Given the description of an element on the screen output the (x, y) to click on. 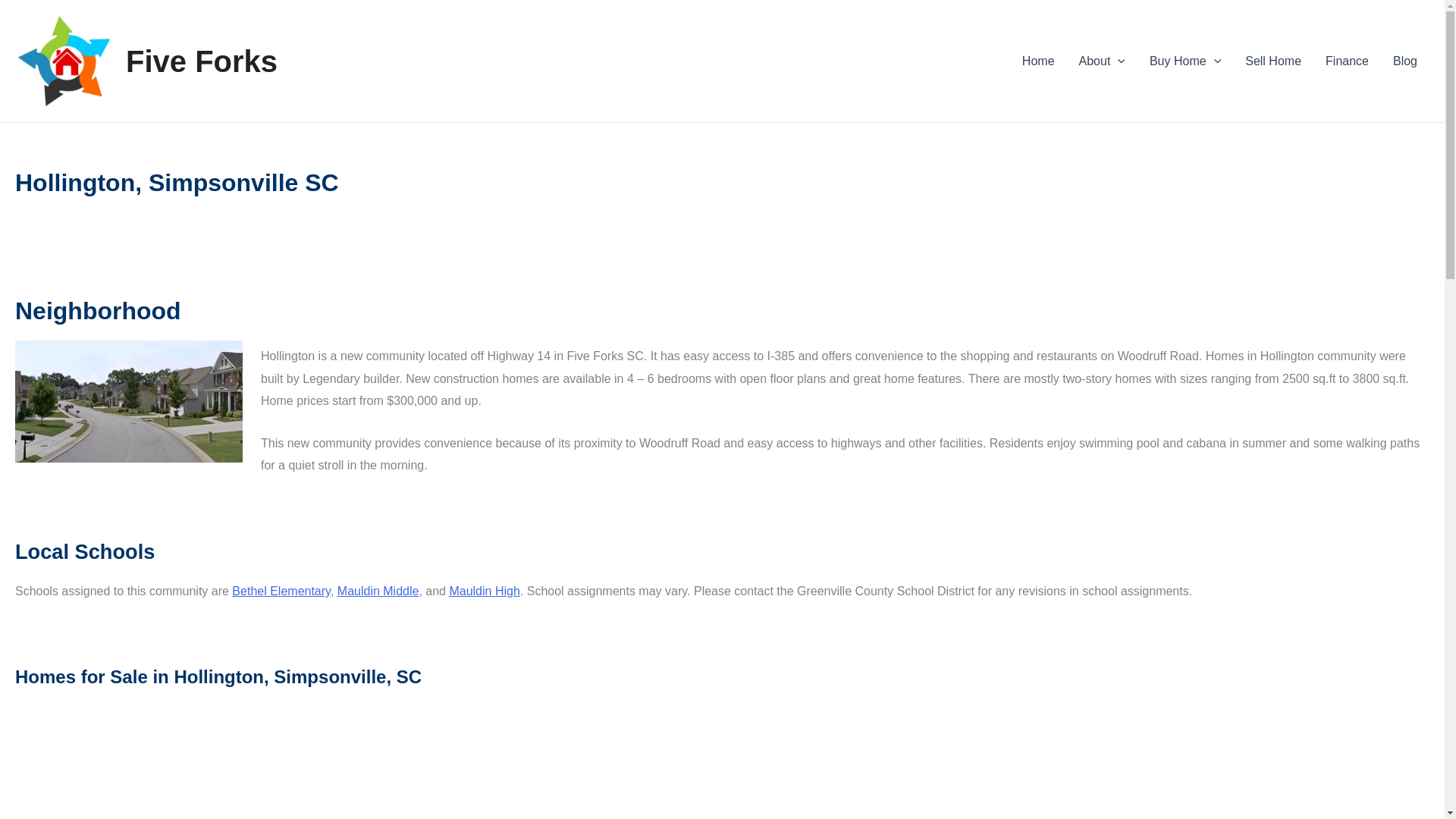
Five Forks (201, 60)
Finance (1346, 60)
About (1102, 60)
Buy Home (1185, 60)
Sell Home (1273, 60)
Home (1038, 60)
